Given the description of an element on the screen output the (x, y) to click on. 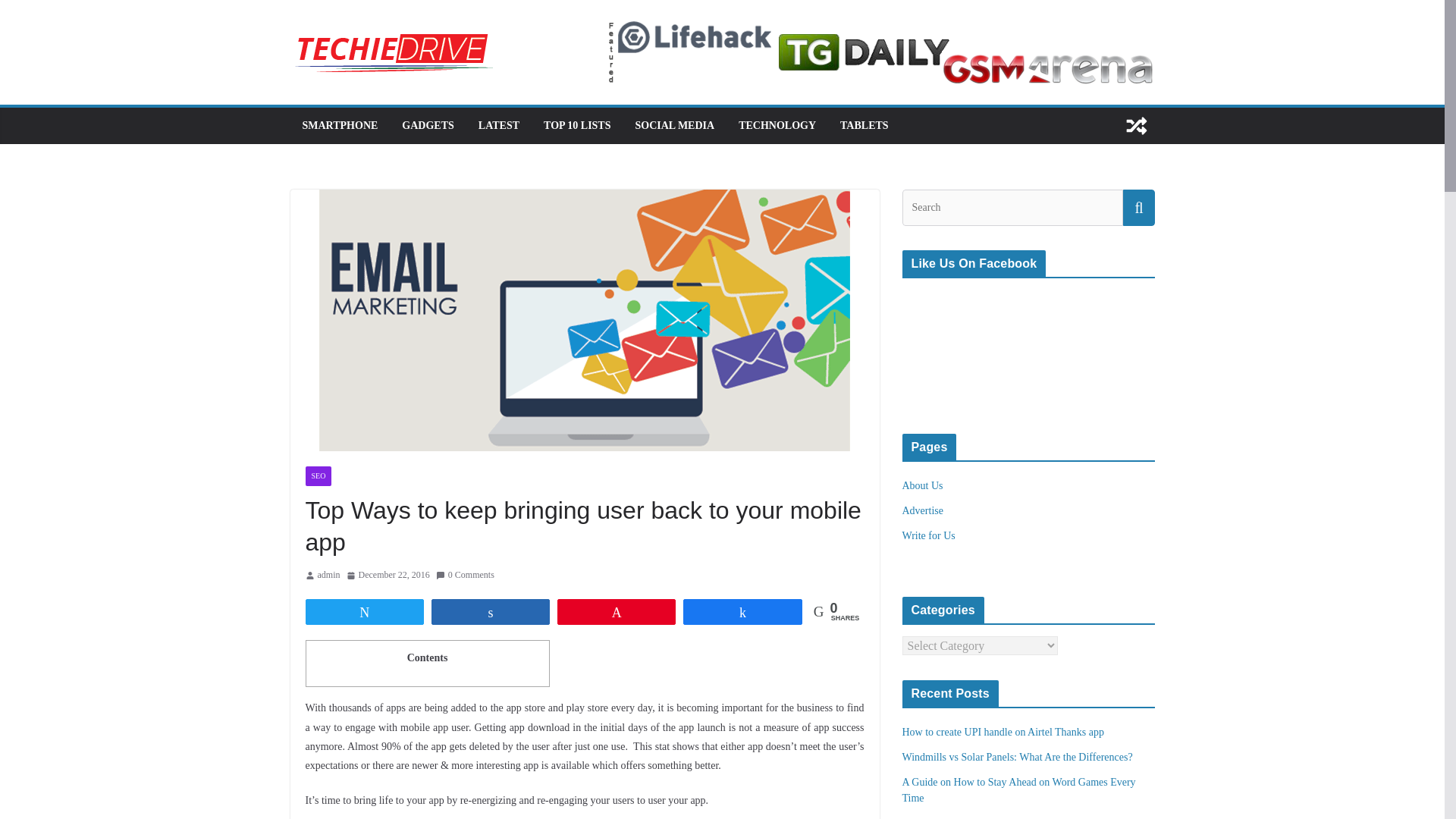
TOP 10 LISTS (576, 125)
SEO (317, 476)
View a random post (1136, 125)
SOCIAL MEDIA (674, 125)
12:53 pm (387, 575)
TECHNOLOGY (776, 125)
admin (328, 575)
0 Comments (465, 575)
GADGETS (426, 125)
TABLETS (864, 125)
LATEST (499, 125)
SMARTPHONE (339, 125)
admin (328, 575)
December 22, 2016 (387, 575)
